Given the description of an element on the screen output the (x, y) to click on. 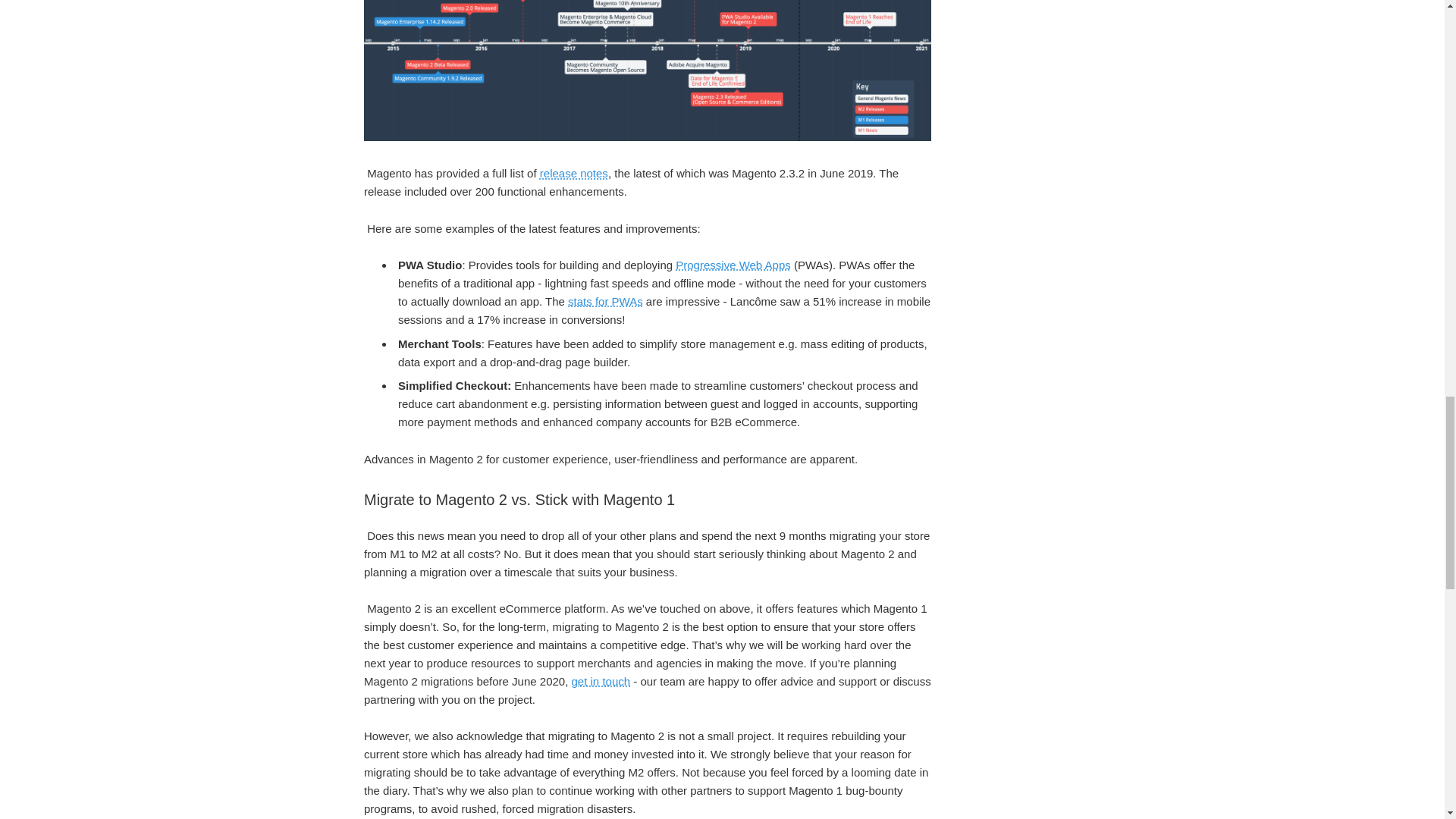
stats for PWAs (605, 300)
Progressive Web Apps (732, 264)
get in touch (601, 680)
release notes (574, 173)
